Given the description of an element on the screen output the (x, y) to click on. 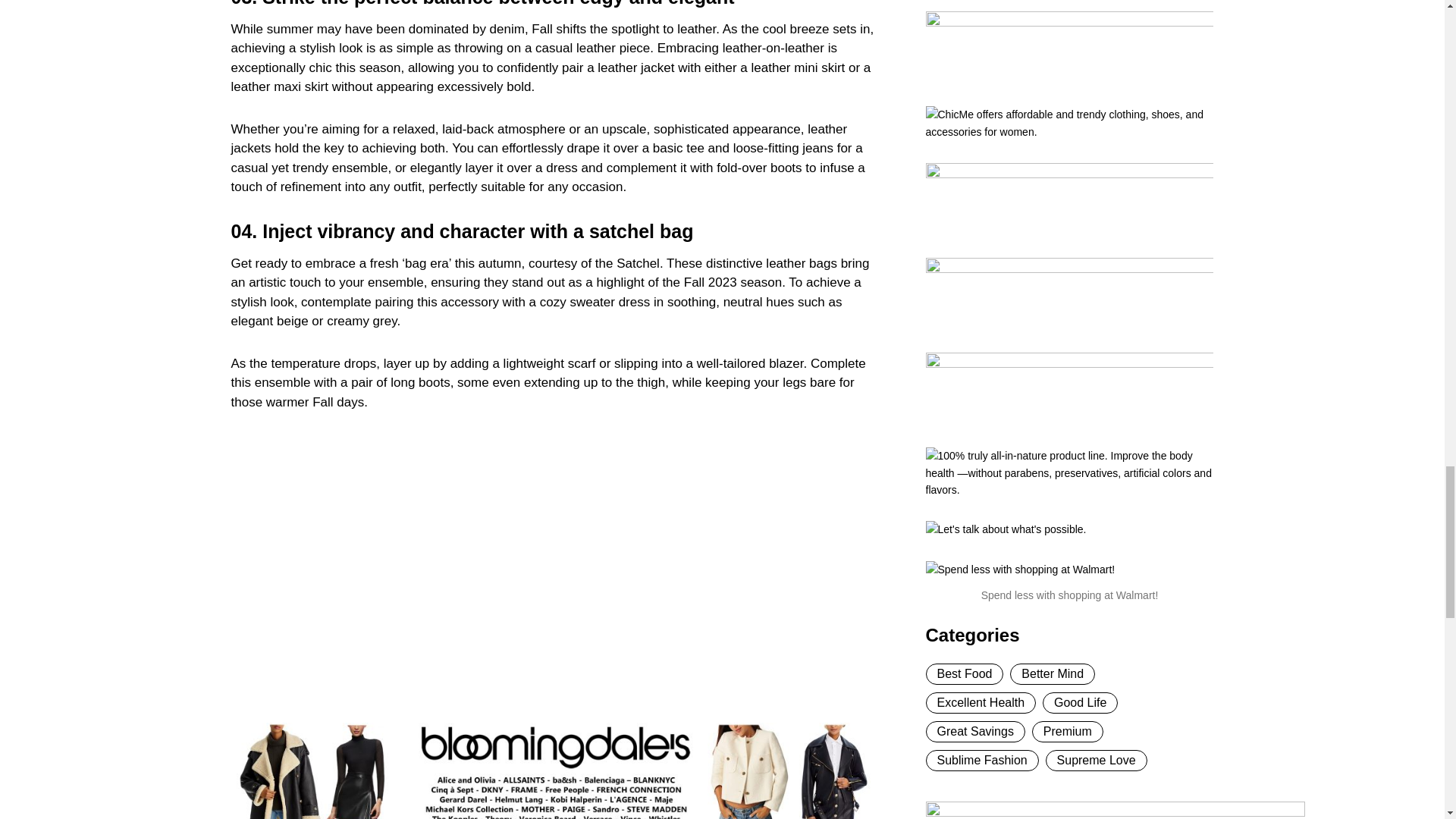
Altuzarra Fall Winter 2023 (473, 570)
